Given the description of an element on the screen output the (x, y) to click on. 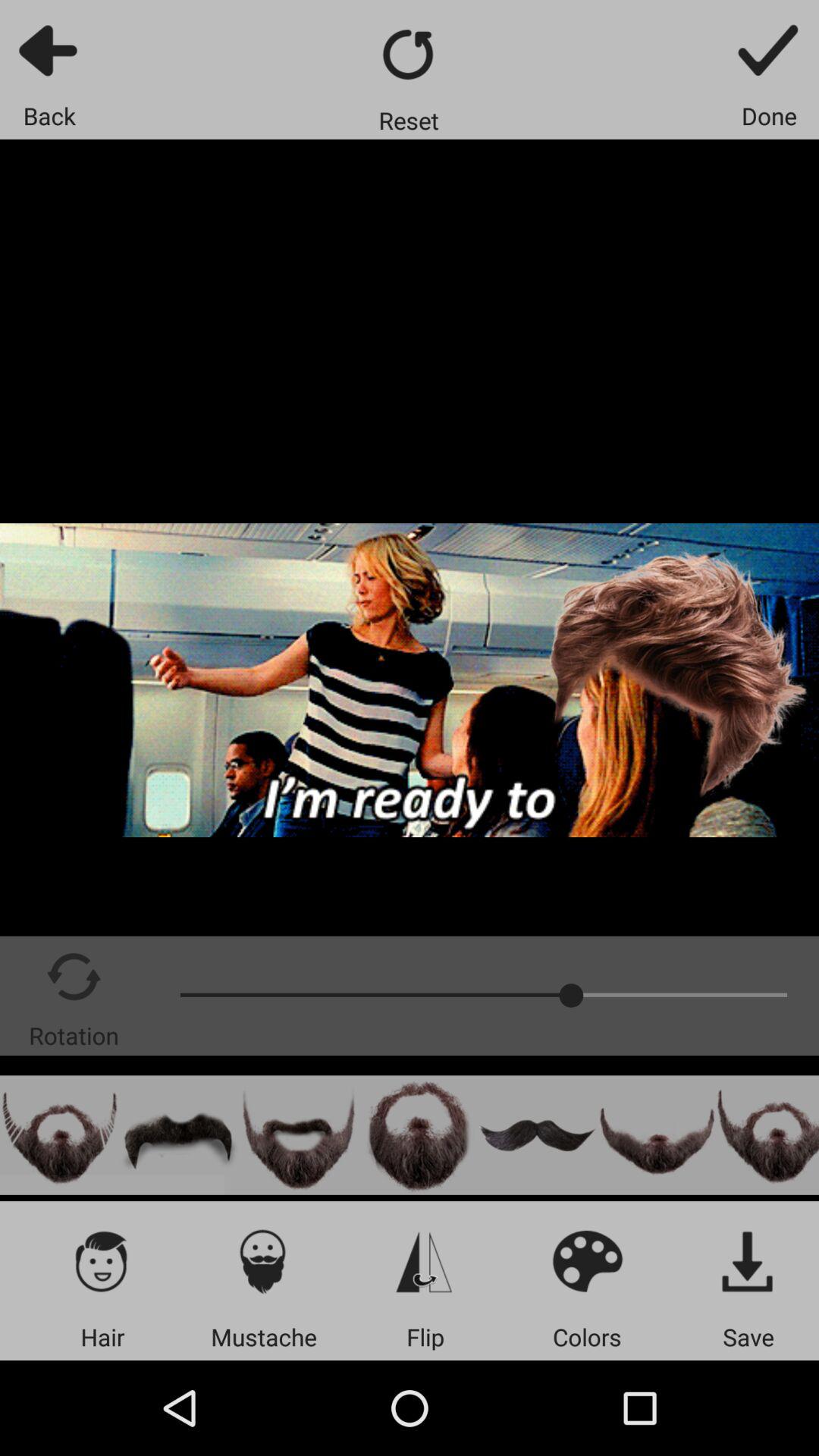
beard without mustache (656, 1134)
